Given the description of an element on the screen output the (x, y) to click on. 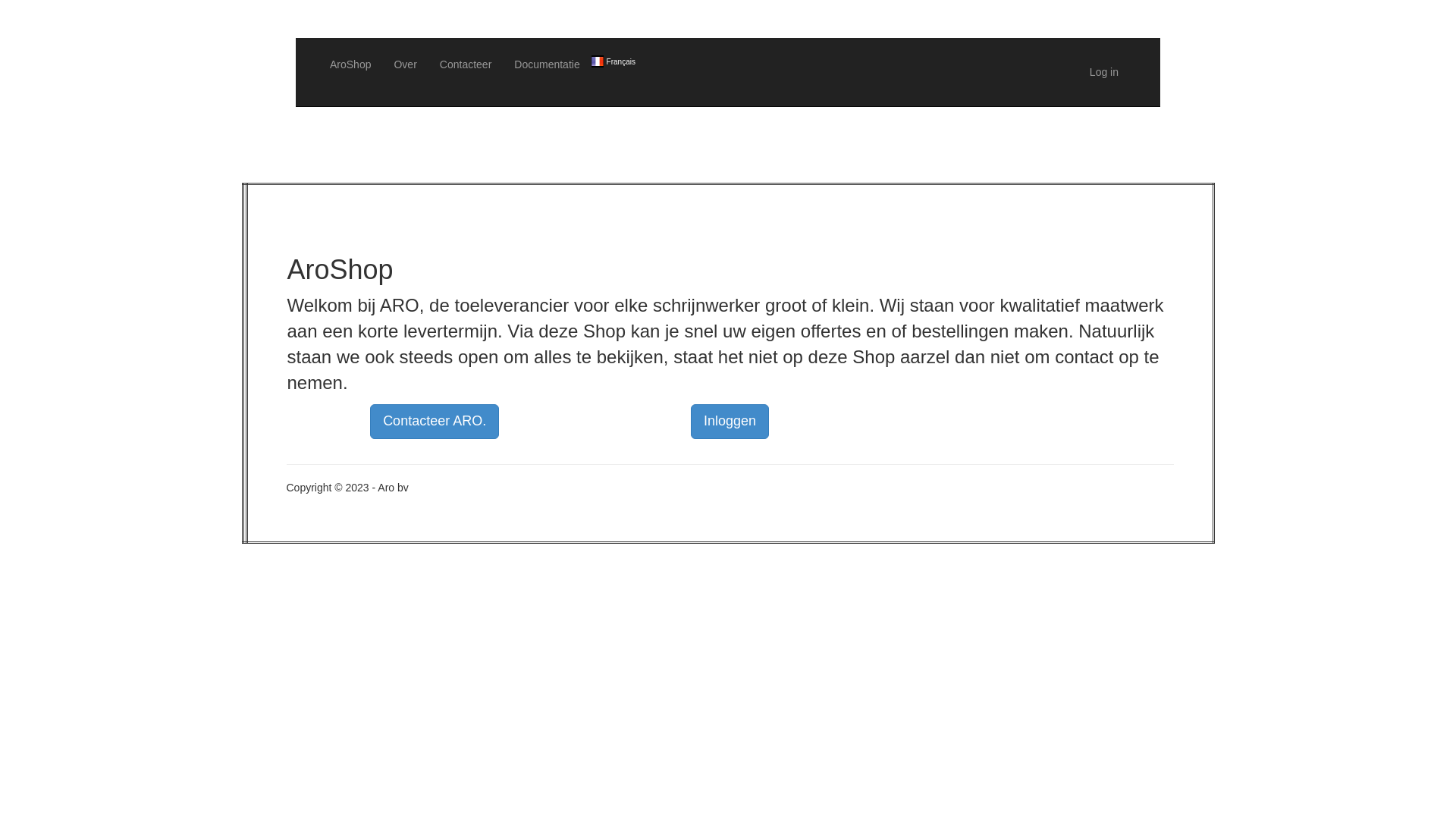
Contacteer ARO. Element type: text (434, 421)
Log in Element type: text (1103, 72)
Documentatie Element type: text (546, 64)
Over Element type: text (404, 64)
Contacteer Element type: text (465, 64)
AroShop Element type: text (350, 64)
Inloggen Element type: text (729, 421)
